Given the description of an element on the screen output the (x, y) to click on. 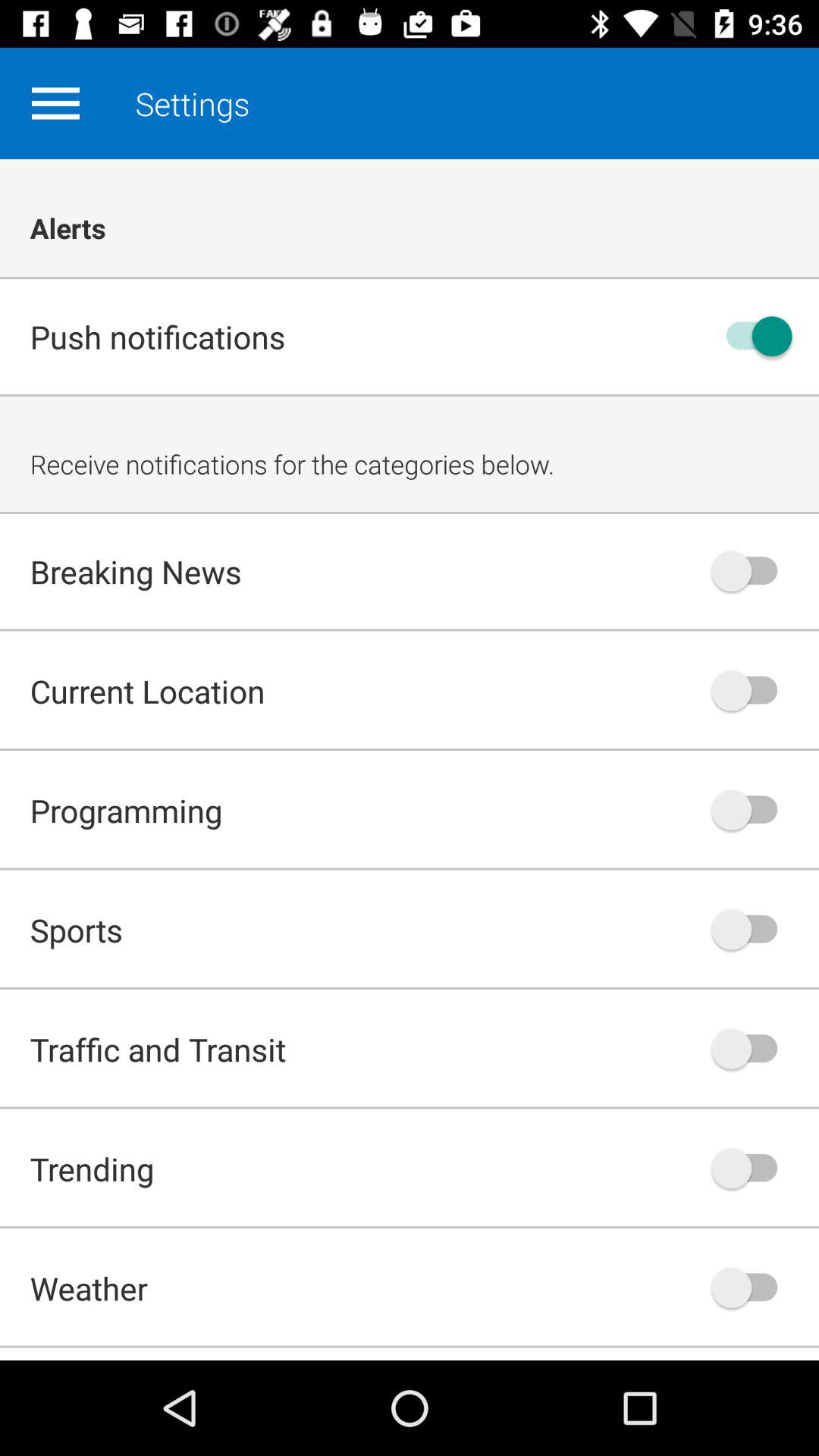
turn on/off sports notifications (751, 929)
